Given the description of an element on the screen output the (x, y) to click on. 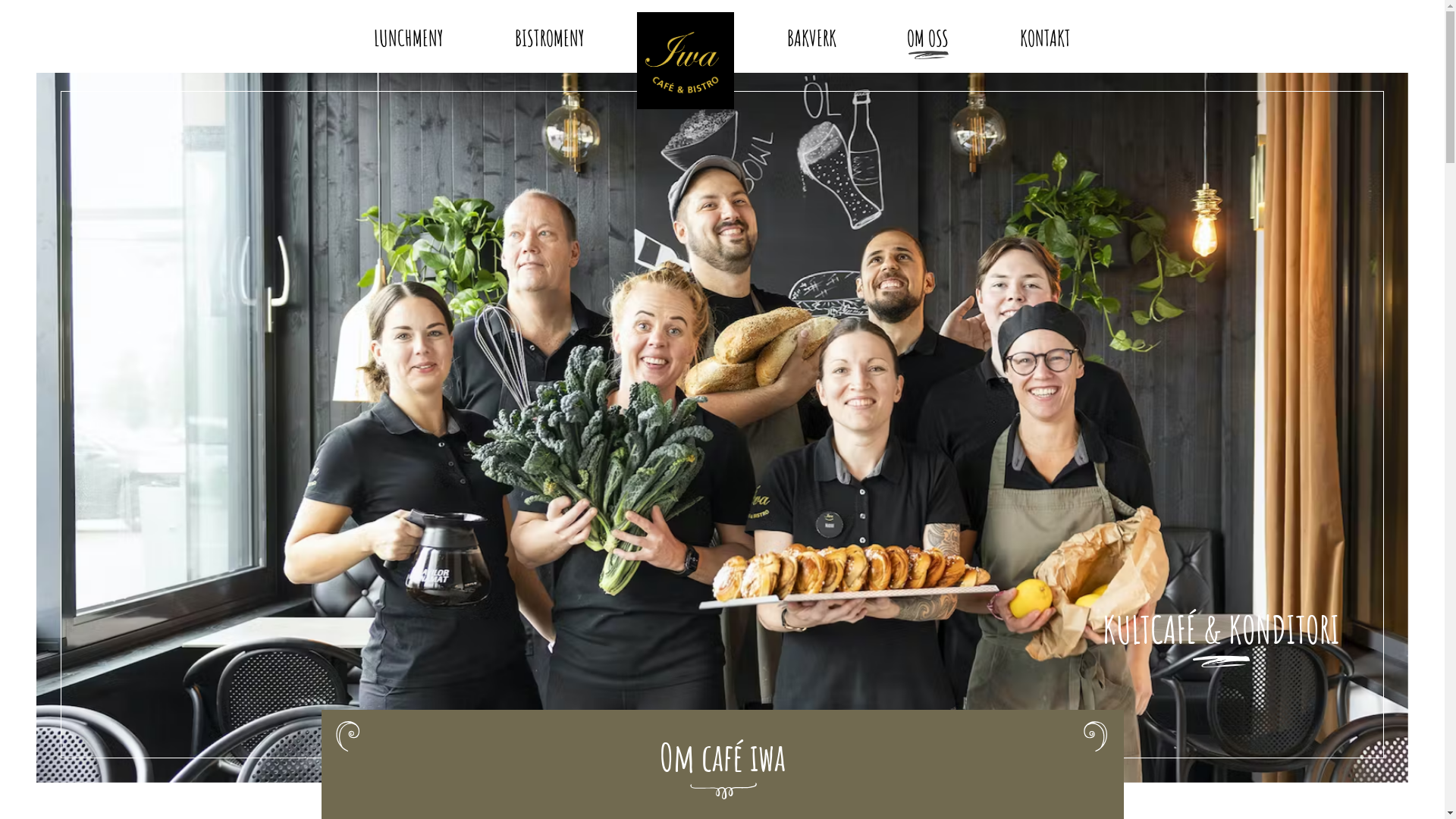
STARTSIDA Element type: text (685, 60)
BAKVERK Element type: text (811, 36)
LUNCHMENY Element type: text (408, 36)
KONTAKT Element type: text (1044, 36)
OM OSS Element type: text (927, 36)
BISTROMENY Element type: text (549, 36)
